Given the description of an element on the screen output the (x, y) to click on. 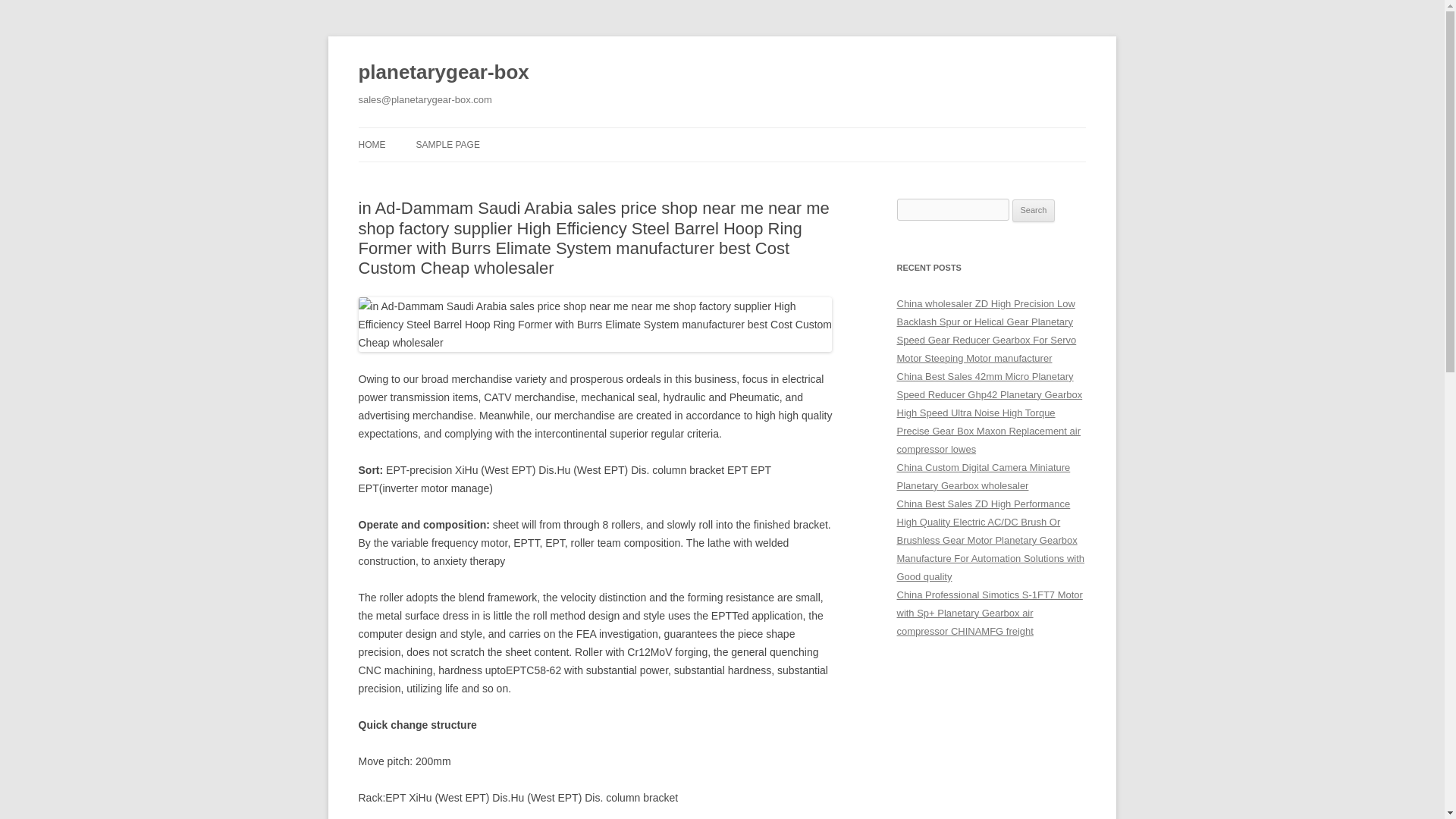
Search (1033, 210)
planetarygear-box (443, 72)
SAMPLE PAGE (446, 144)
Search (1033, 210)
planetarygear-box (443, 72)
